Given the description of an element on the screen output the (x, y) to click on. 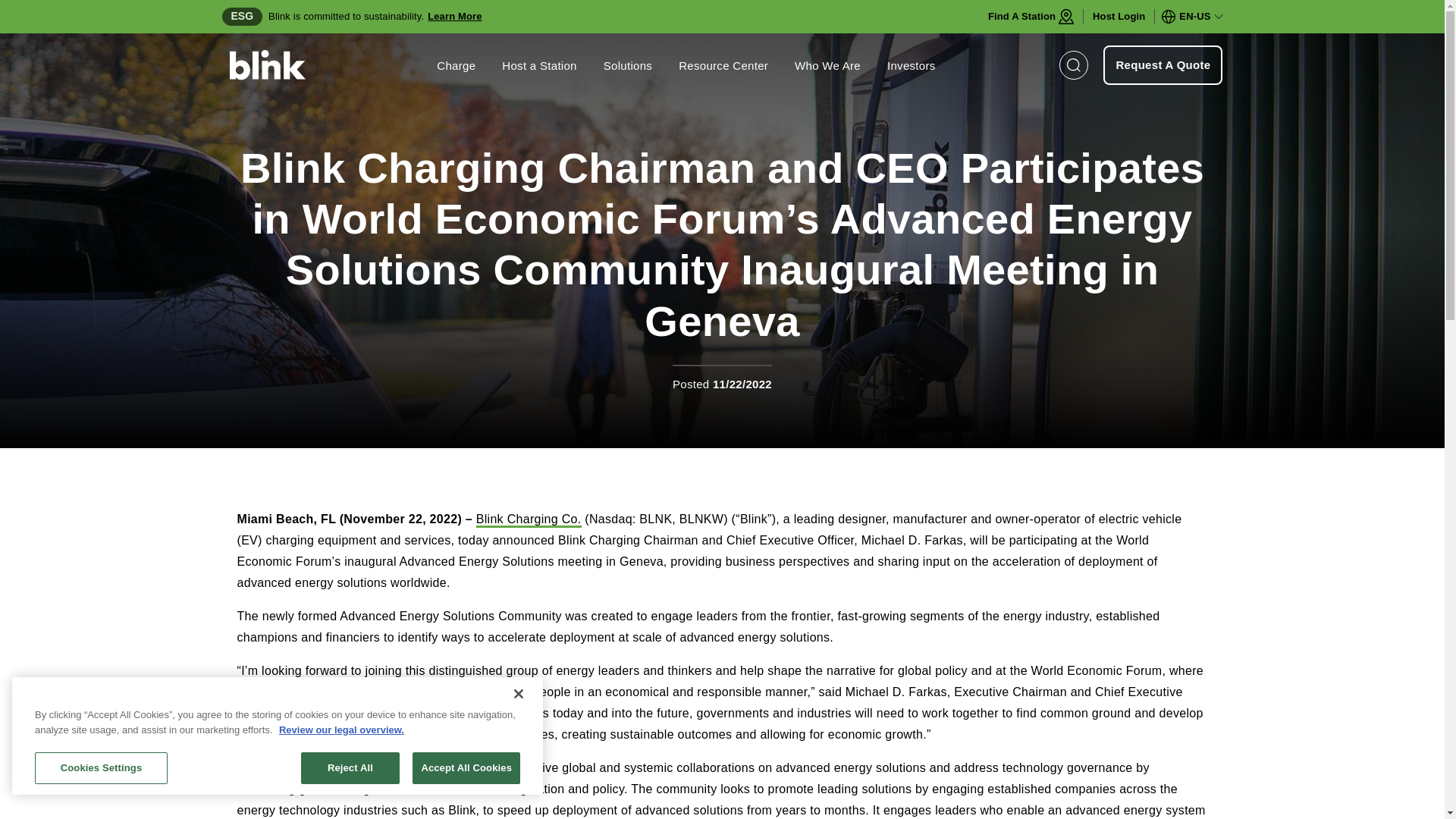
Who We Are (827, 65)
Blink Charging Co. (528, 519)
Investors (911, 65)
Charge (456, 65)
EN-US (1193, 16)
Solutions (628, 65)
Resource Center (723, 65)
Host a Station (539, 65)
Find A Station (1031, 17)
Request A Quote (1163, 65)
